Given the description of an element on the screen output the (x, y) to click on. 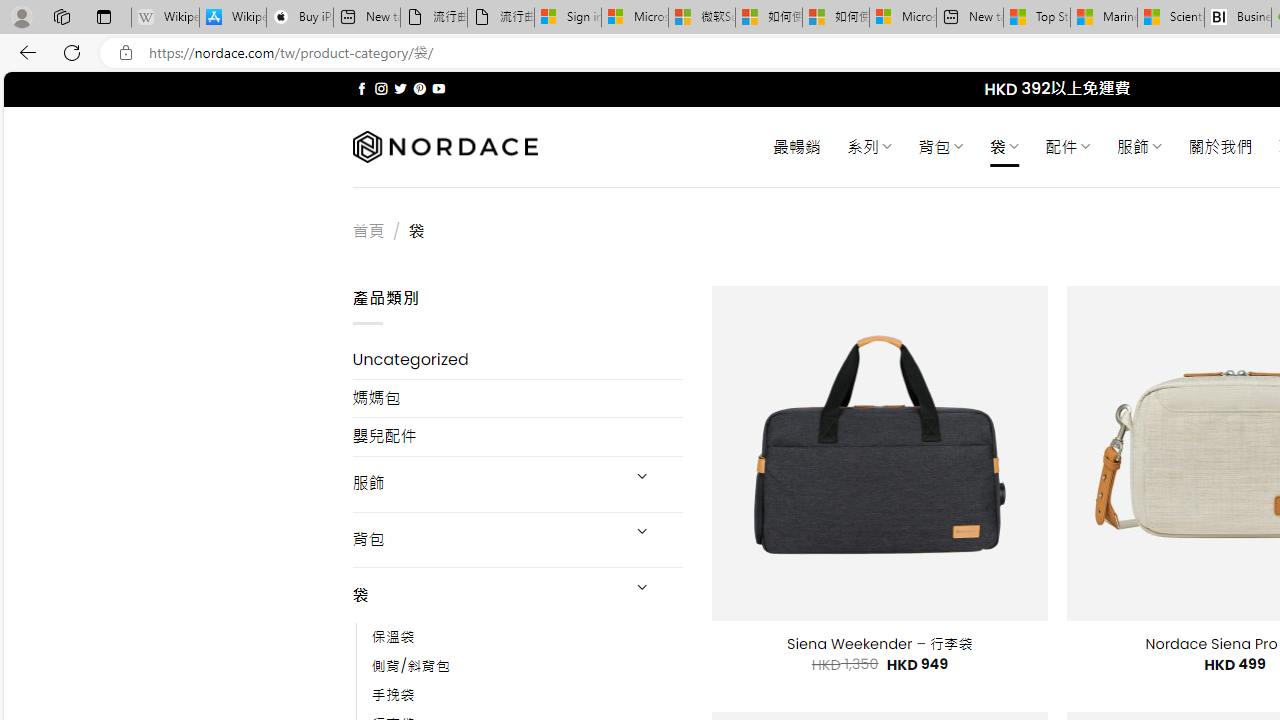
Follow on Twitter (400, 88)
